Given the description of an element on the screen output the (x, y) to click on. 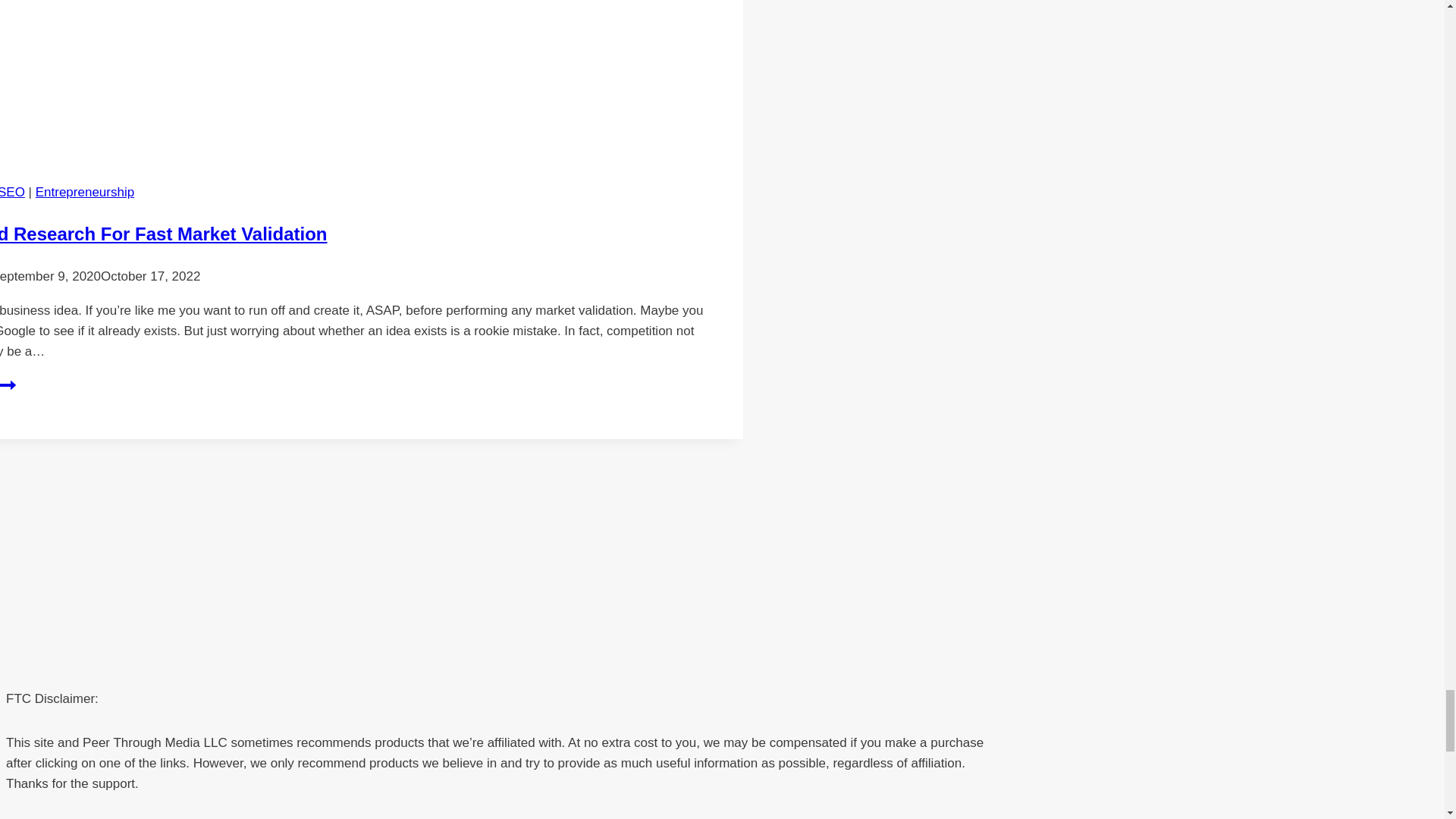
Continue (8, 384)
